Given the description of an element on the screen output the (x, y) to click on. 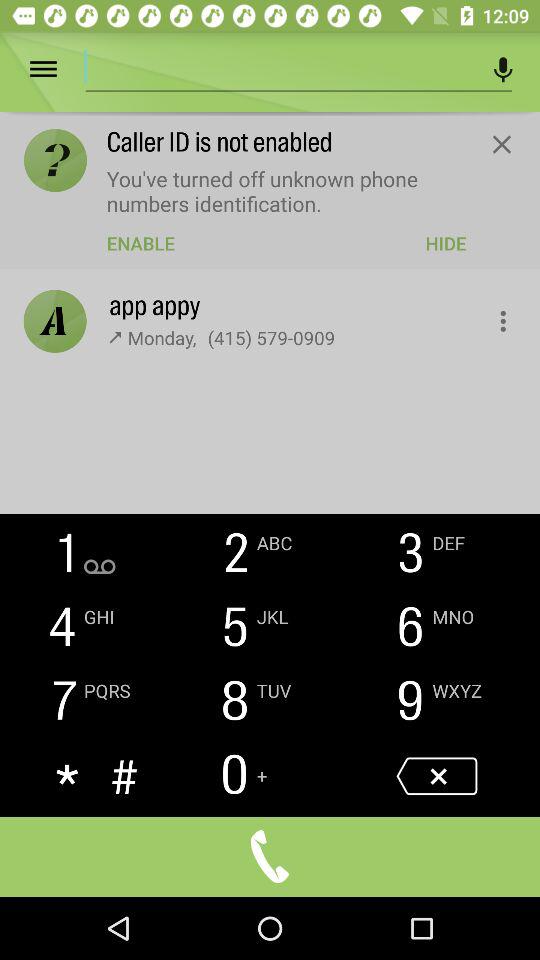
go to list of options or main menu (57, 69)
